Given the description of an element on the screen output the (x, y) to click on. 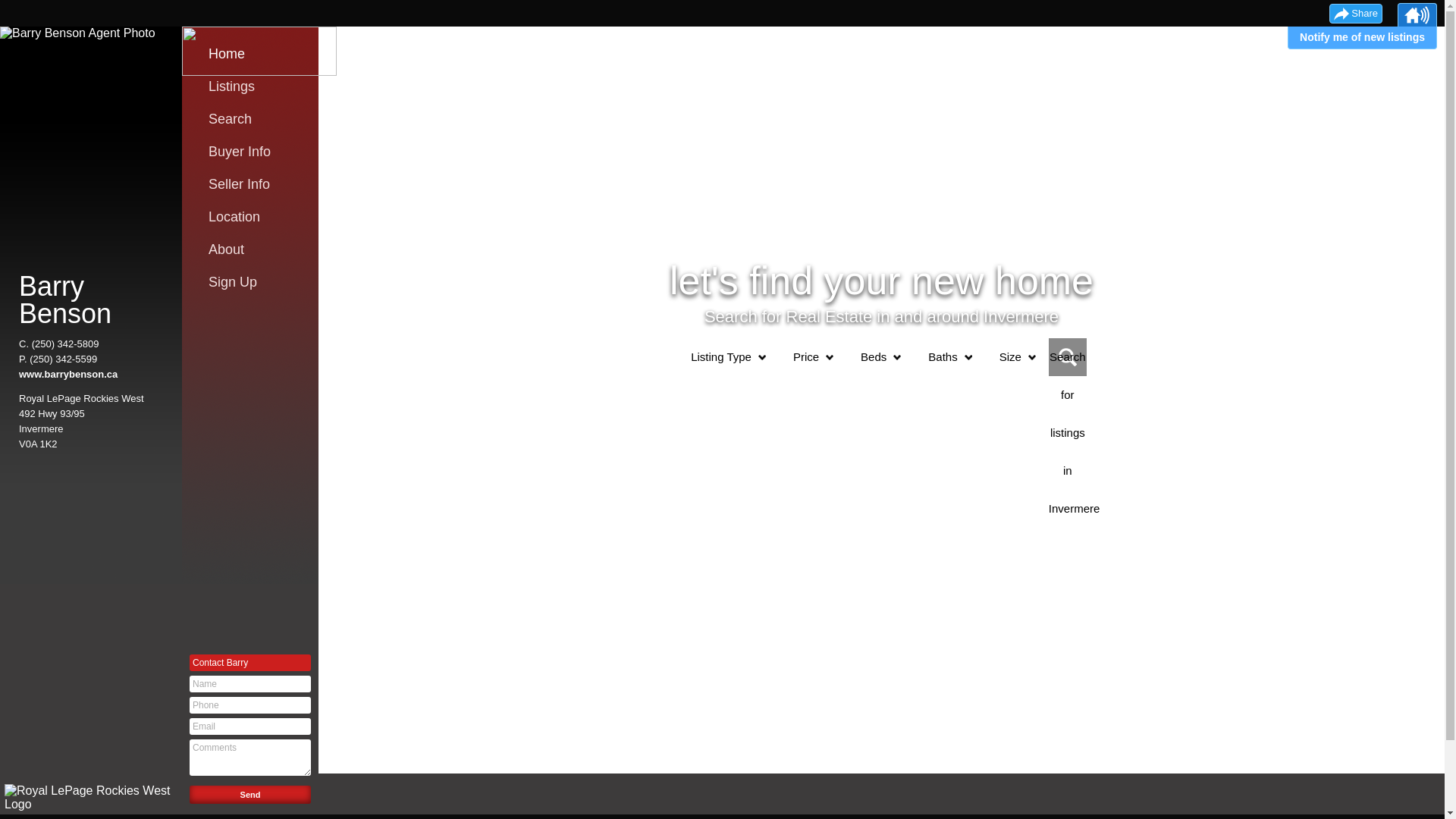
Search for listings in Invermere Element type: text (1067, 357)
www.barrybenson.ca Element type: text (67, 373)
Search Element type: text (253, 118)
Baths Element type: text (942, 357)
Size Element type: text (1010, 357)
Beds Element type: text (873, 357)
About Element type: text (253, 249)
Listings Element type: text (253, 86)
Share Element type: text (1355, 13)
Home Element type: text (253, 53)
Sign Up Element type: text (253, 282)
Price Element type: text (805, 357)
Location Element type: text (253, 216)
Seller Info Element type: text (253, 184)
Buyer Info Element type: text (253, 151)
Listing Type Element type: text (720, 357)
